Given the description of an element on the screen output the (x, y) to click on. 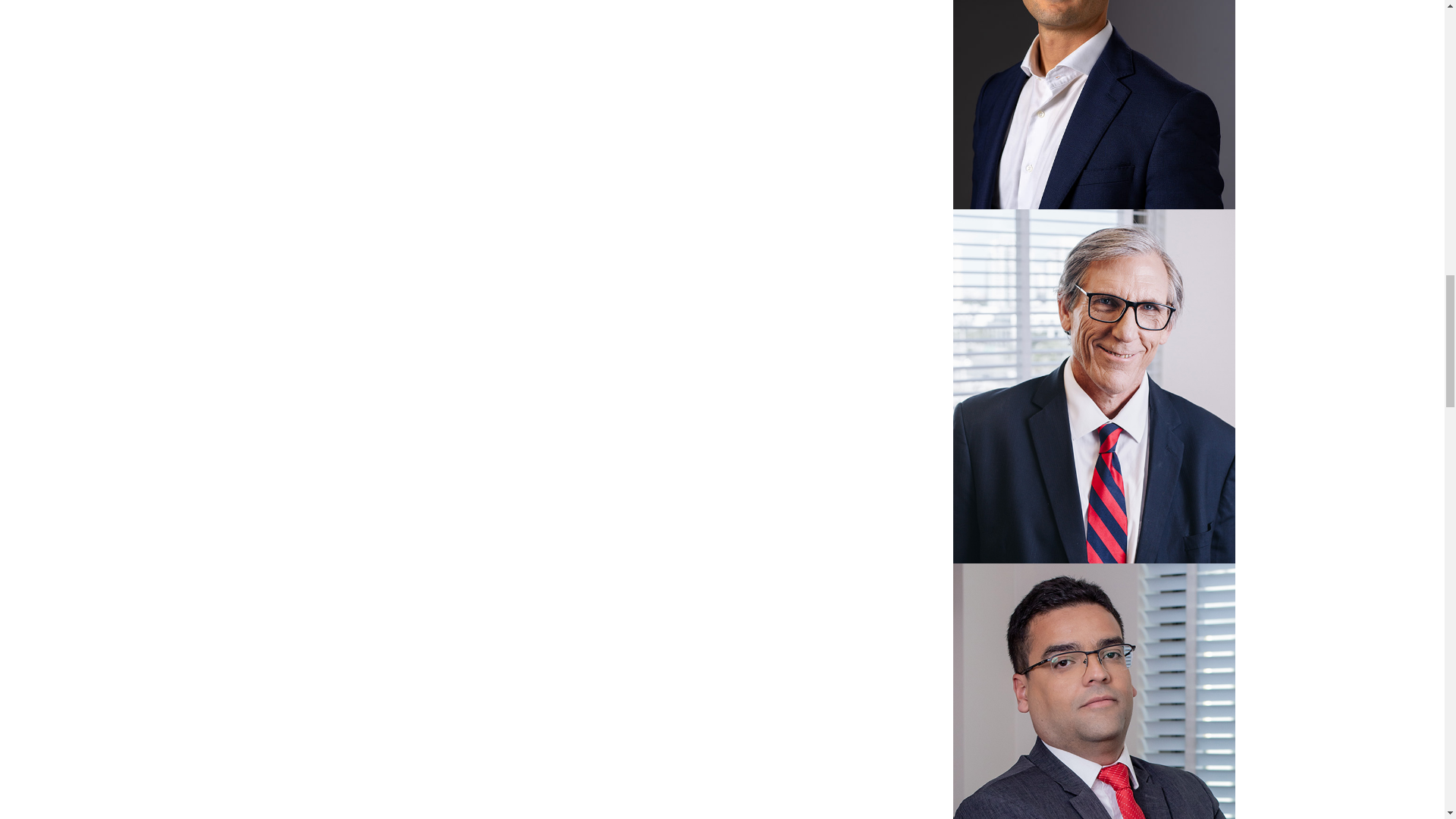
Claudio Carvalho (1093, 691)
Marcos Martins (1093, 104)
